Given the description of an element on the screen output the (x, y) to click on. 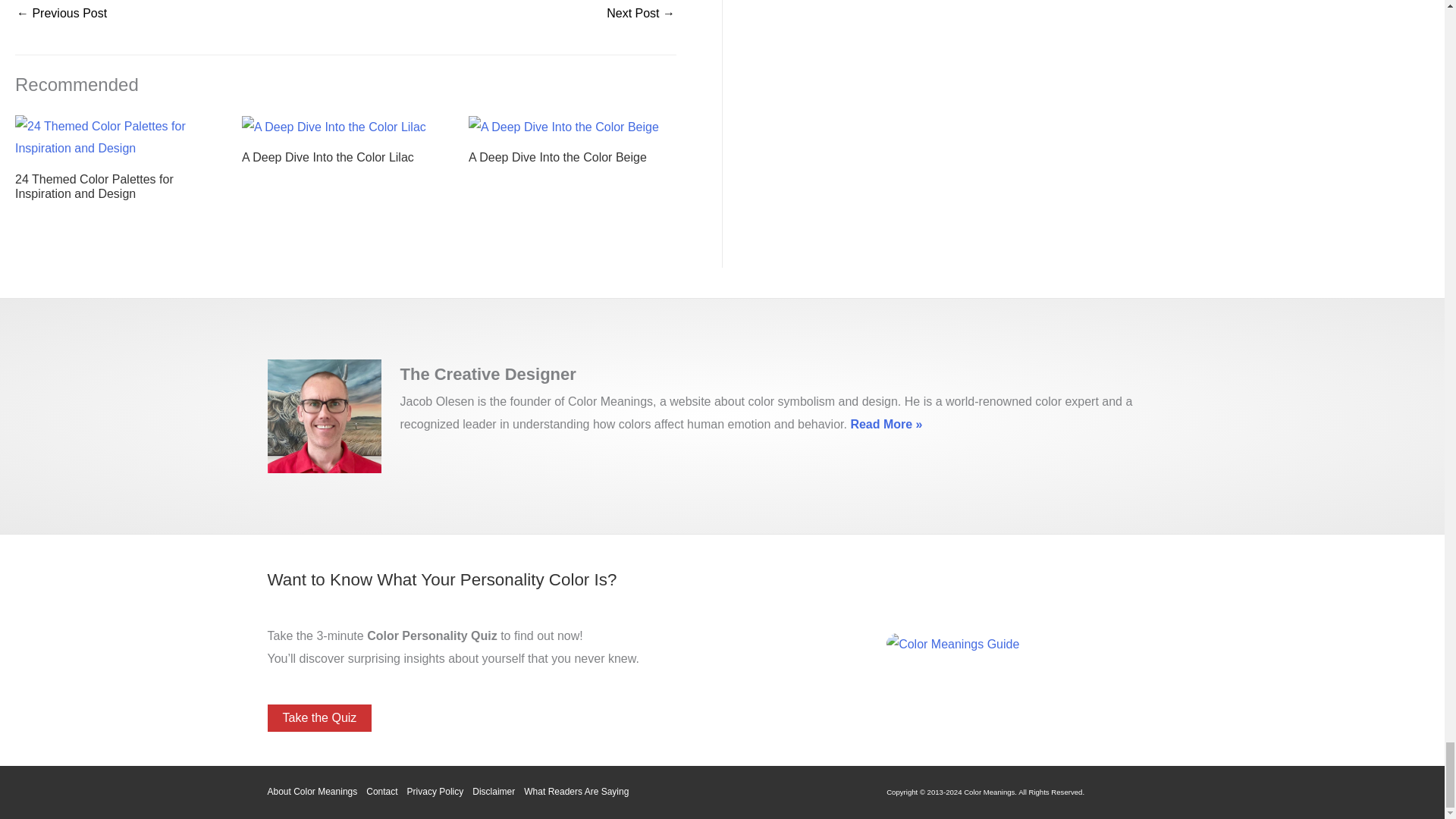
Star Colors: Why They Differ and What We Can Learn From Them (641, 14)
